Given the description of an element on the screen output the (x, y) to click on. 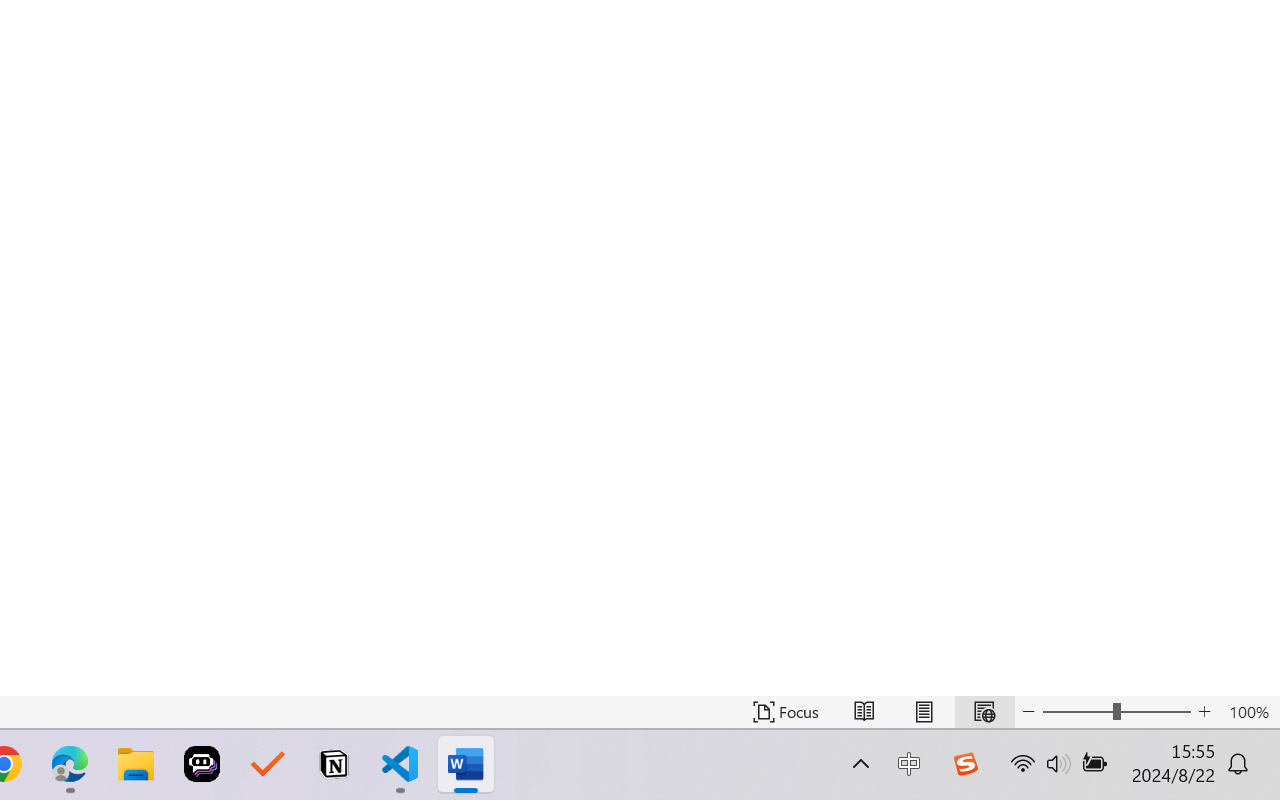
Print Layout (924, 712)
Zoom In (1204, 712)
Zoom (1116, 712)
Web Layout (984, 712)
Zoom 100% (1249, 712)
Zoom Out (1077, 712)
Focus  (786, 712)
Read Mode (864, 712)
Class: Image (965, 764)
